Given the description of an element on the screen output the (x, y) to click on. 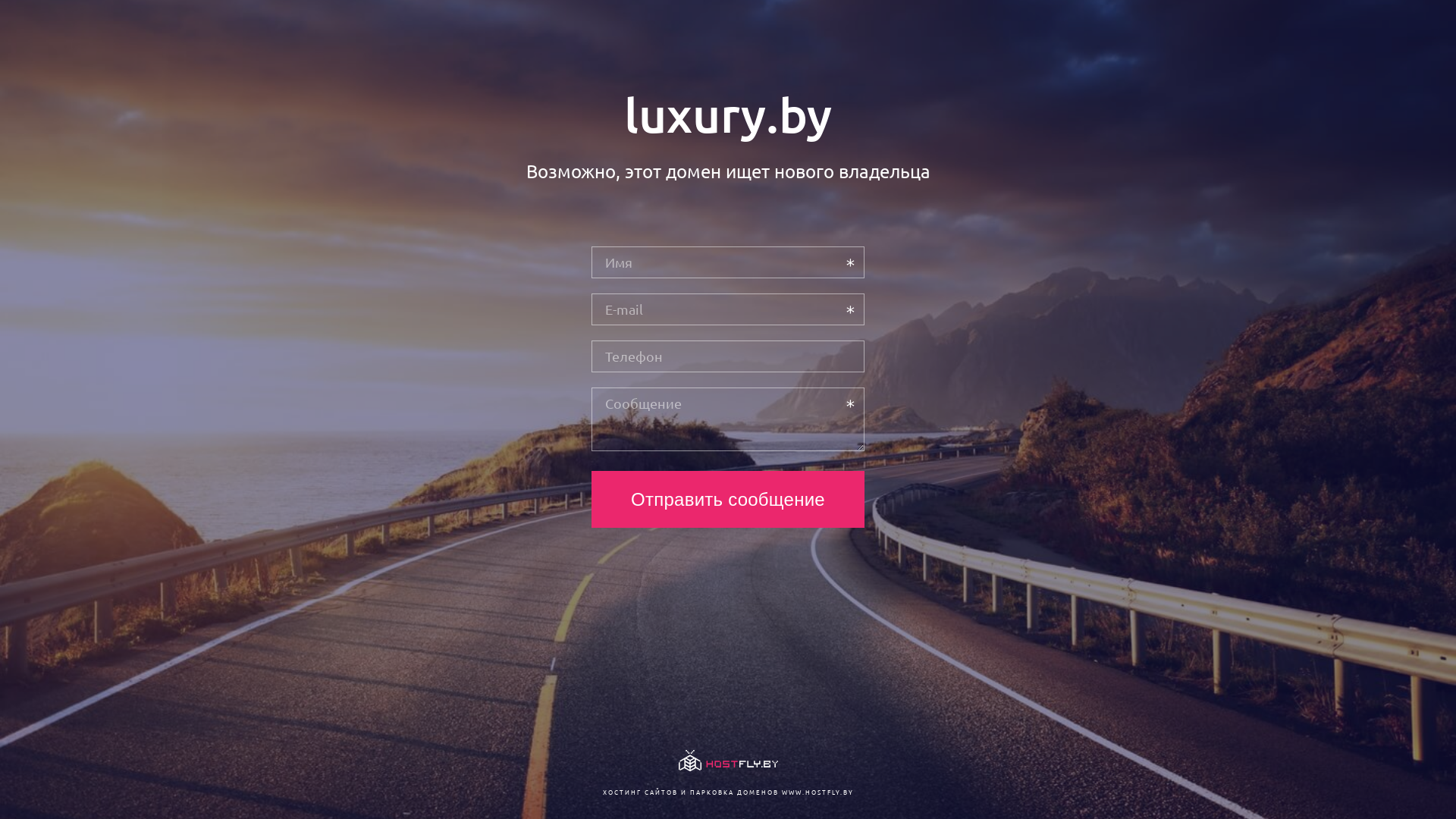
WWW.HOSTFLY.BY Element type: text (817, 791)
